Given the description of an element on the screen output the (x, y) to click on. 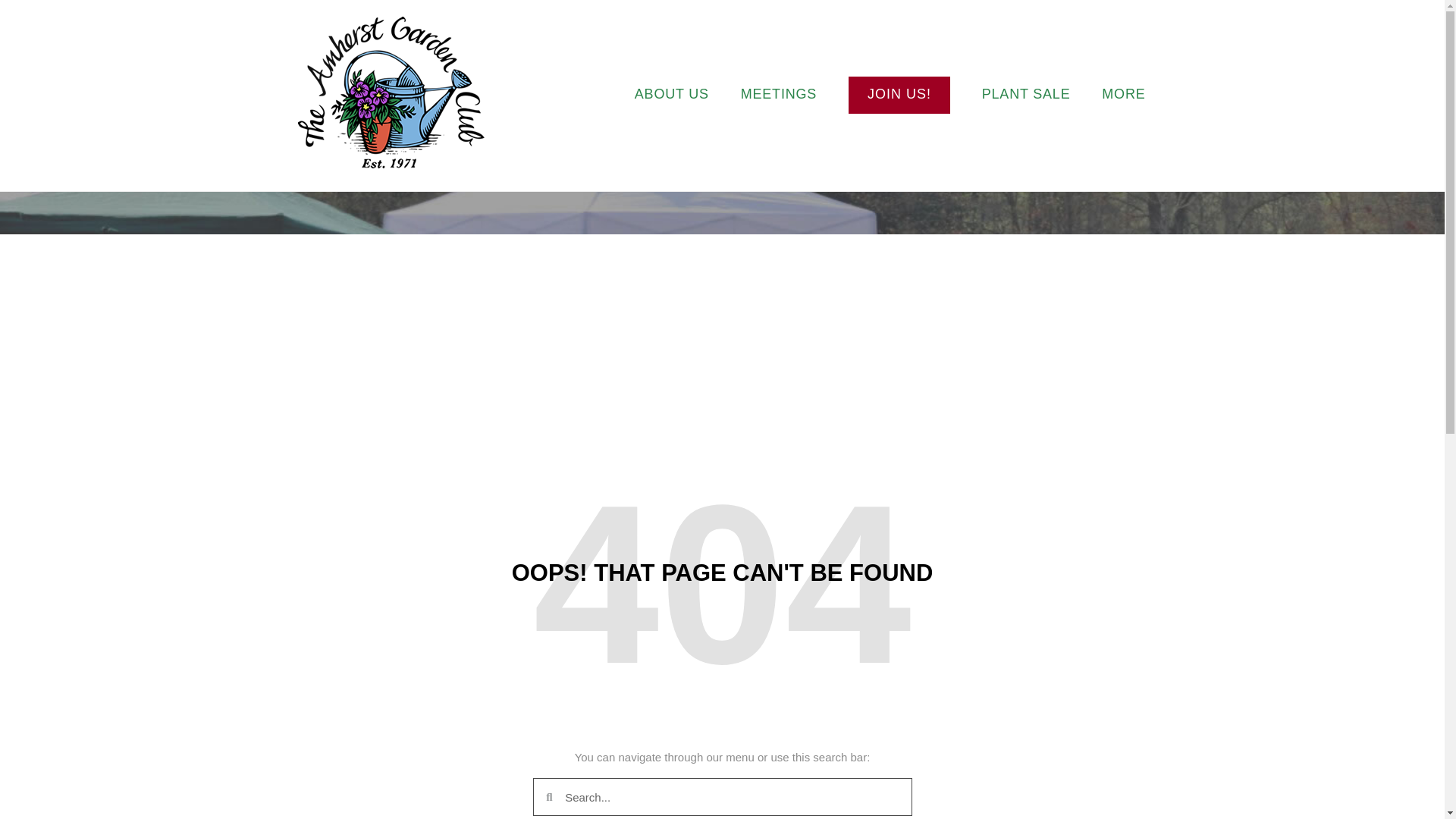
MORE (1123, 95)
JOIN US! (899, 94)
PLANT SALE (1025, 95)
ABOUT US (671, 95)
MEETINGS (778, 95)
Search (731, 796)
